Given the description of an element on the screen output the (x, y) to click on. 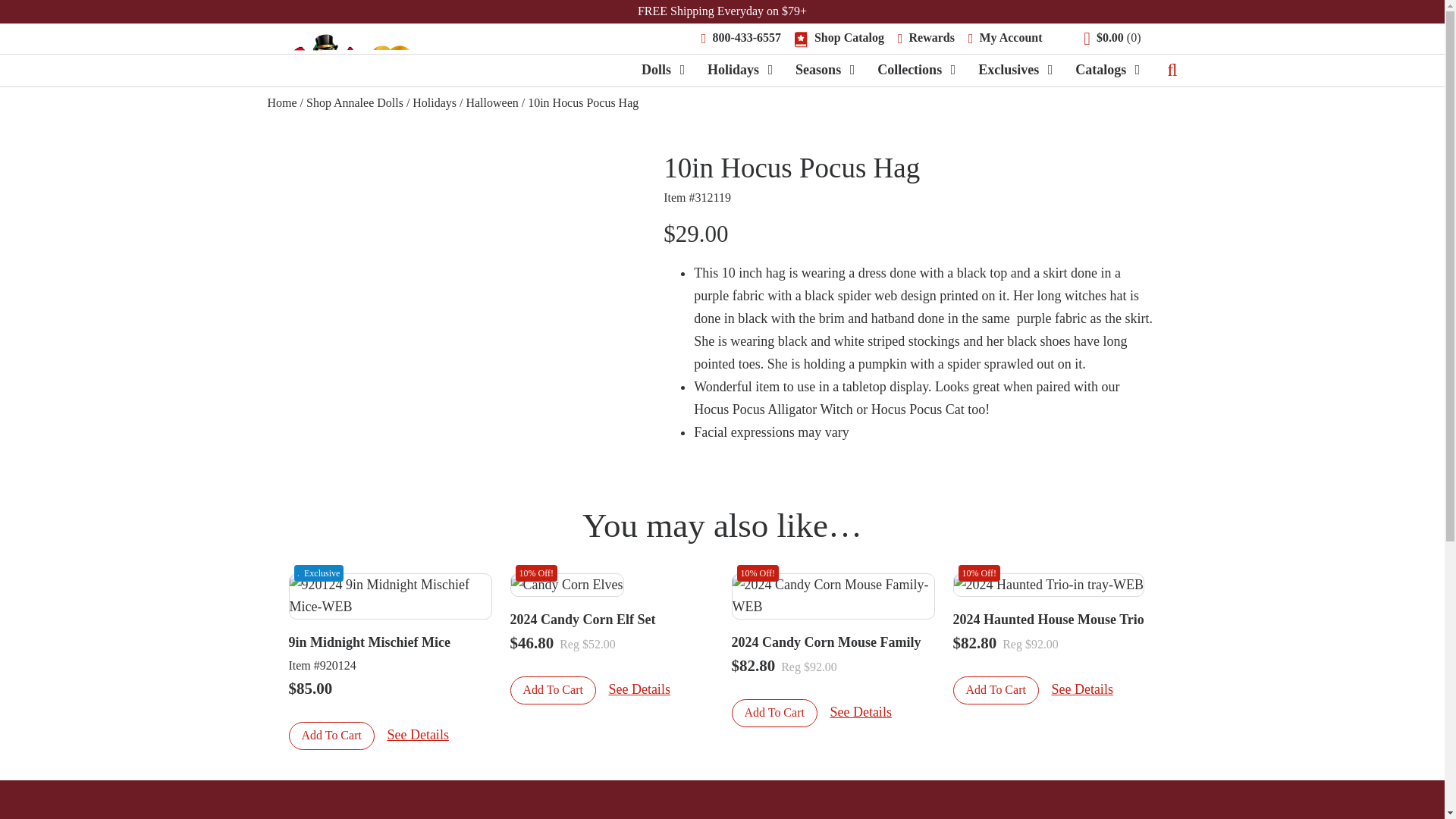
Seasons (817, 69)
Annalee Homepage (342, 55)
Collections (909, 69)
Dolls (656, 69)
Holidays (732, 69)
View your shopping cart (1111, 38)
Exclusives (1008, 69)
